Given the description of an element on the screen output the (x, y) to click on. 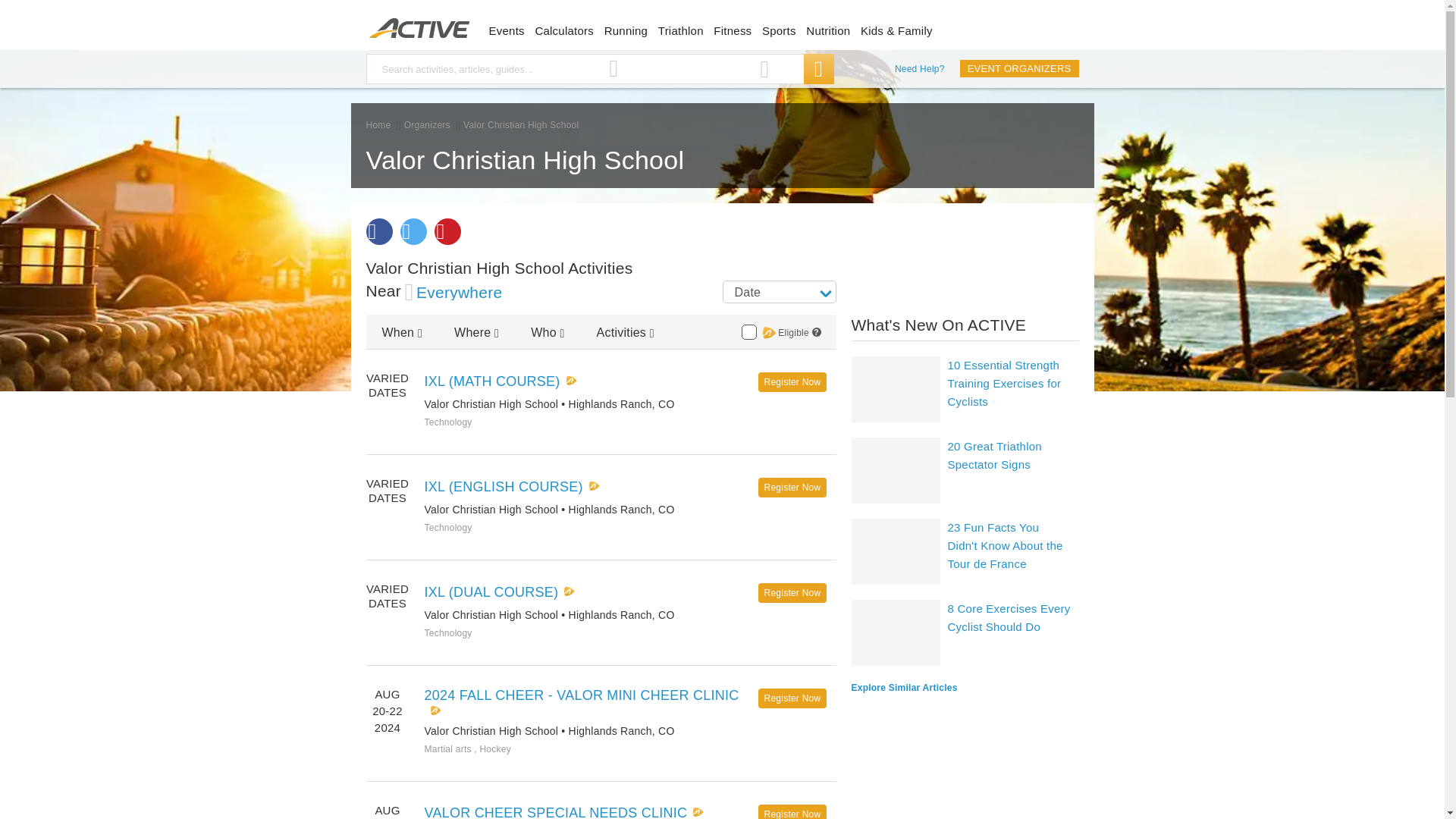
Share on Twitter (413, 231)
Share on Pinterest (446, 231)
Share on Facebook (378, 231)
